Given the description of an element on the screen output the (x, y) to click on. 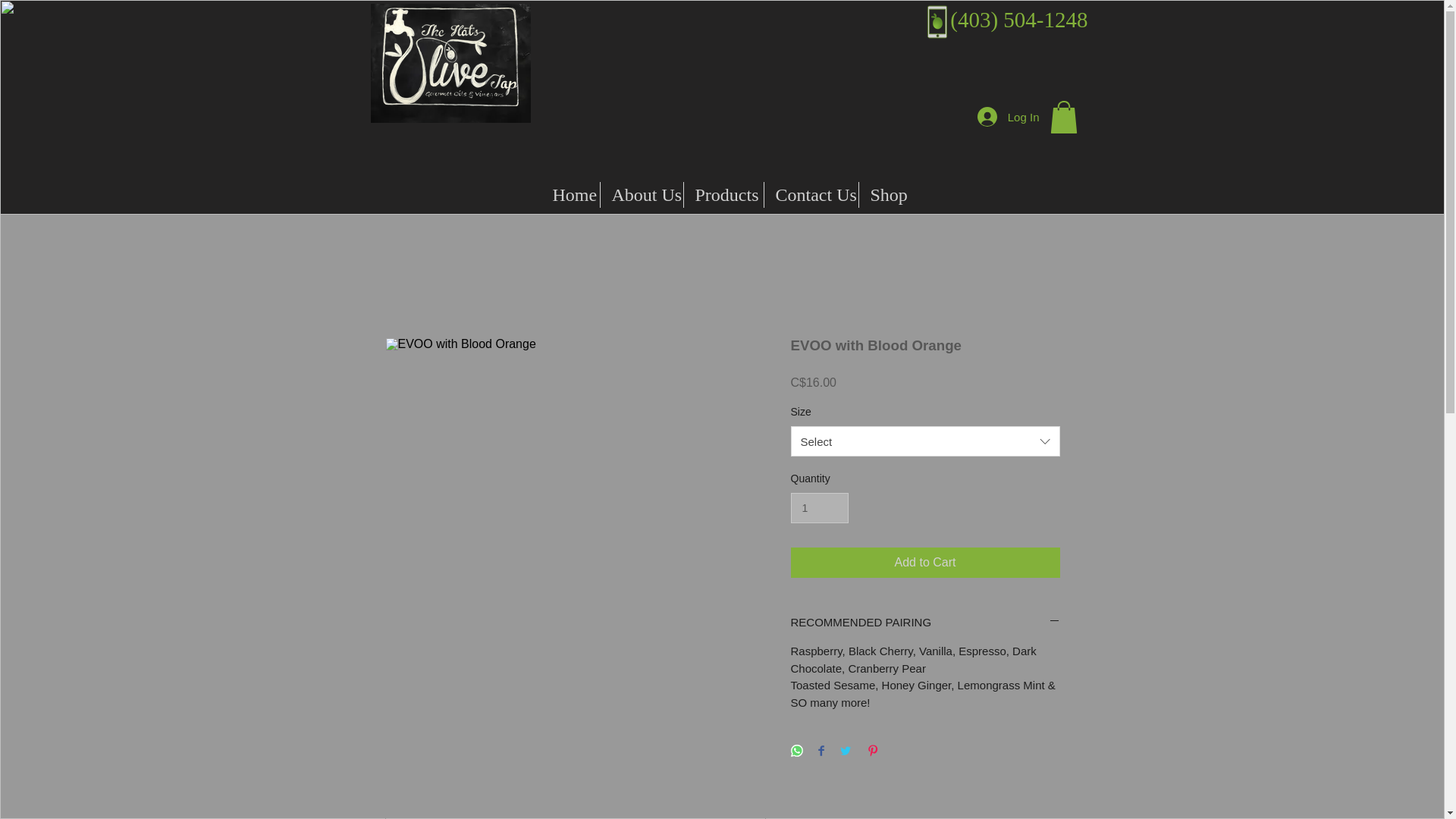
DRAWN-LOGO-WhiteText.png (449, 56)
RECOMMENDED PAIRING (924, 621)
Contact Us (811, 194)
Products (723, 194)
Log In (1007, 116)
About Us (640, 194)
Select (924, 440)
Add to Cart (924, 562)
Shop (885, 194)
Home (570, 194)
